Given the description of an element on the screen output the (x, y) to click on. 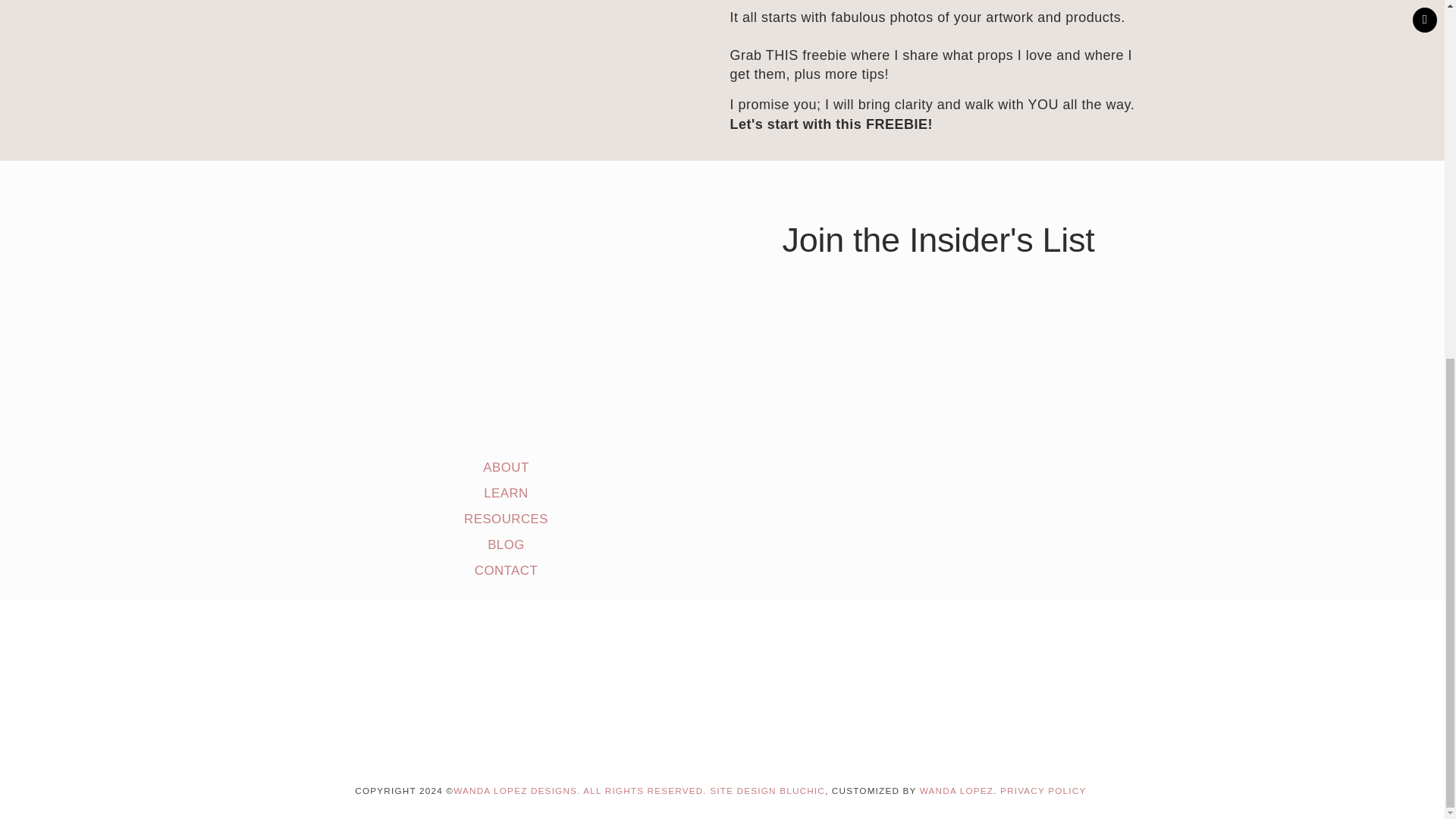
WANDA LOPEZ DESIGNS. ALL RIGHTS RESERVED. SITE DESIGN (615, 790)
CONTACT (505, 570)
RESOURCES (506, 518)
LEARN (505, 493)
WANDA LOPEZ (956, 790)
BLOG (505, 544)
PRIVACY POLICY (1043, 790)
ABOUT (505, 467)
BLUCHIC (801, 790)
